Given the description of an element on the screen output the (x, y) to click on. 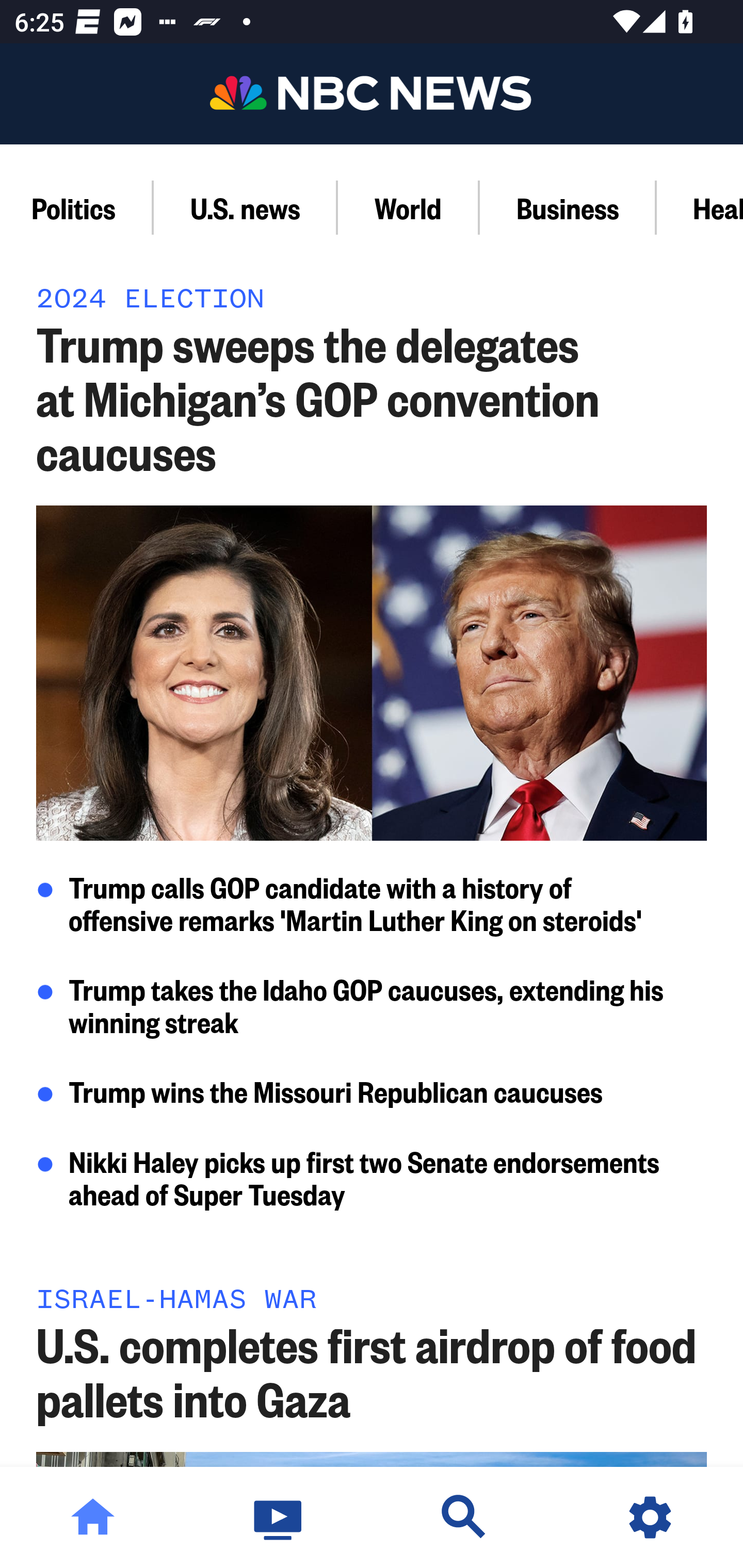
Politics Section,Politics (76, 207)
U.S. news Section,U.S. news (245, 207)
World Section,World (408, 207)
Business Section,Business (567, 207)
Watch (278, 1517)
Discover (464, 1517)
Settings (650, 1517)
